Given the description of an element on the screen output the (x, y) to click on. 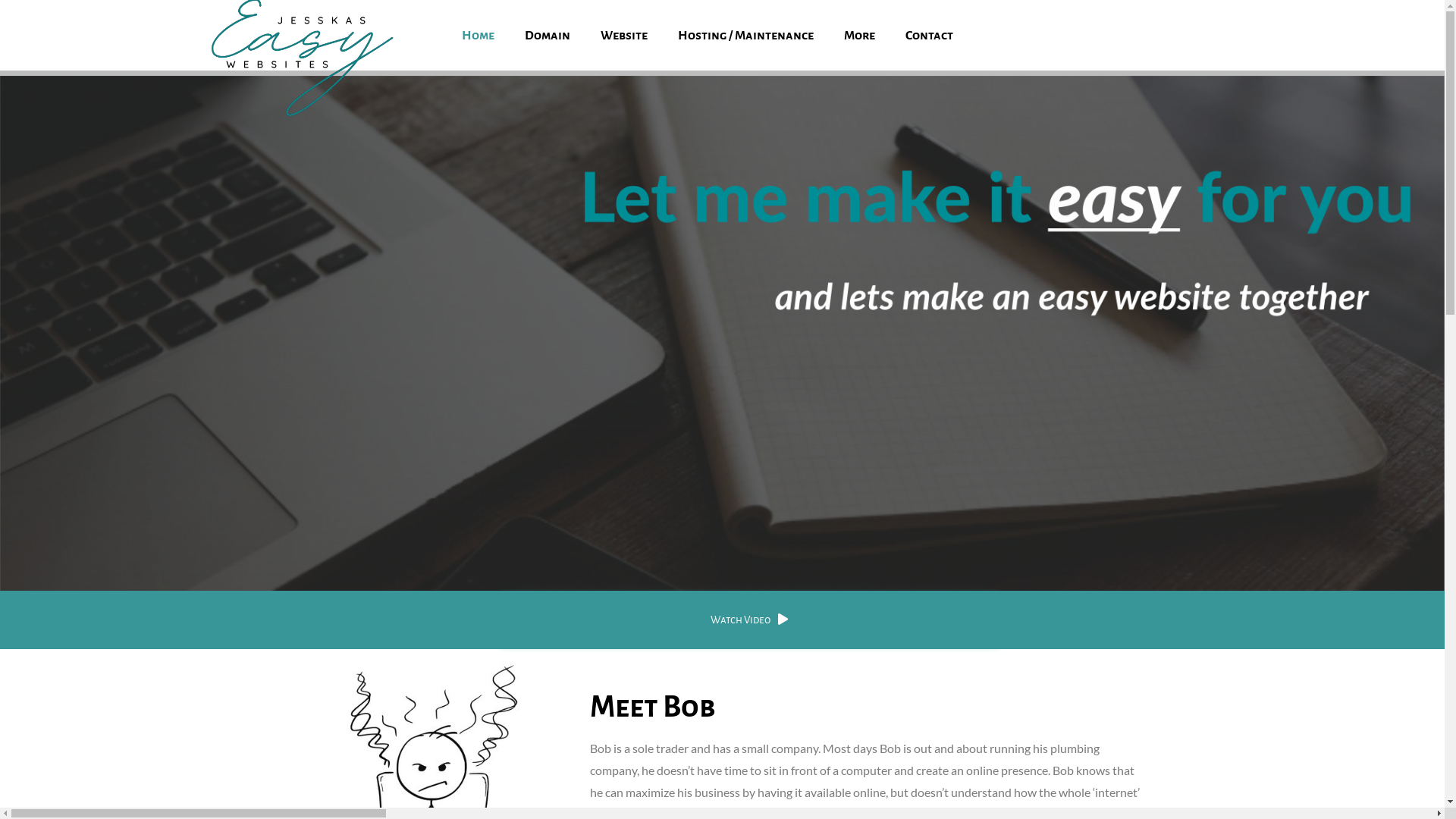
Home Element type: text (477, 35)
Watch Video Element type: text (749, 619)
Website Element type: text (623, 35)
Hosting / Maintenance Element type: text (745, 35)
Domain Element type: text (547, 35)
More Element type: text (859, 35)
Contact Element type: text (929, 35)
